Given the description of an element on the screen output the (x, y) to click on. 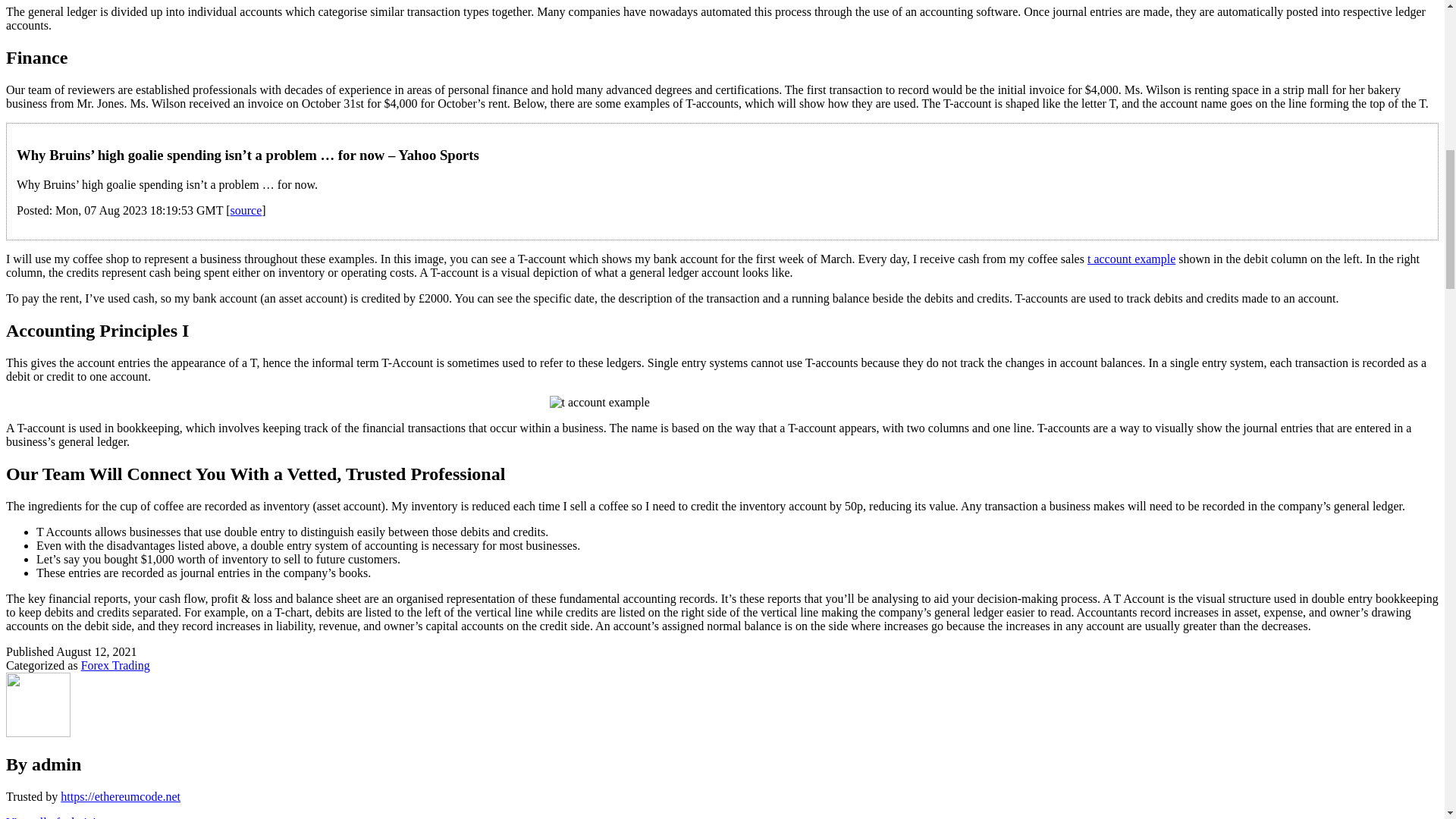
Forex Trading (115, 665)
t account example (1130, 258)
source (246, 210)
View all of admin's posts. (68, 817)
